Given the description of an element on the screen output the (x, y) to click on. 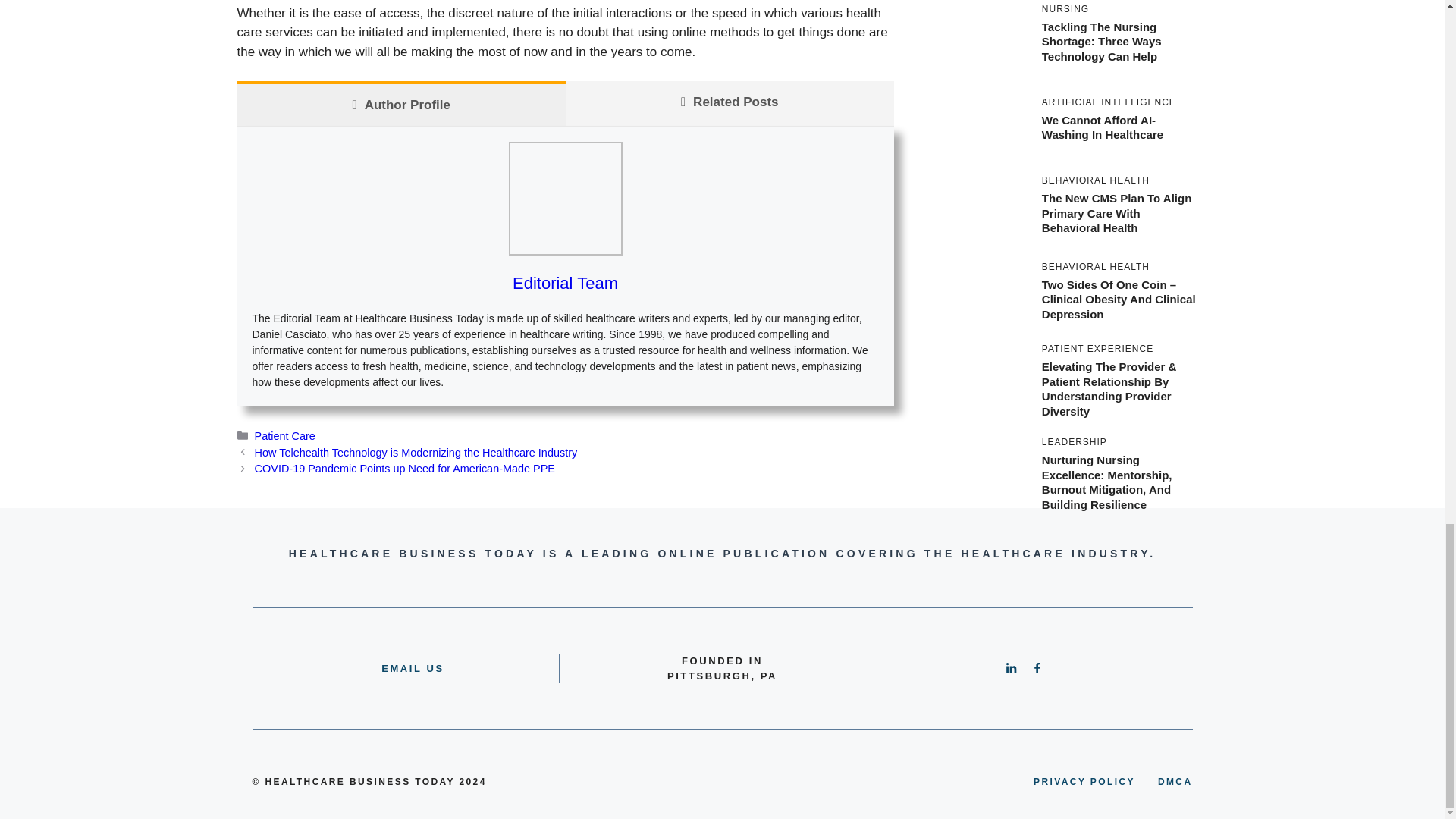
COVID-19 Pandemic Points up Need for American-Made PPE (404, 468)
Patient Care (284, 435)
Editorial Team (564, 282)
How to access the best care services online 1 (564, 198)
